Given the description of an element on the screen output the (x, y) to click on. 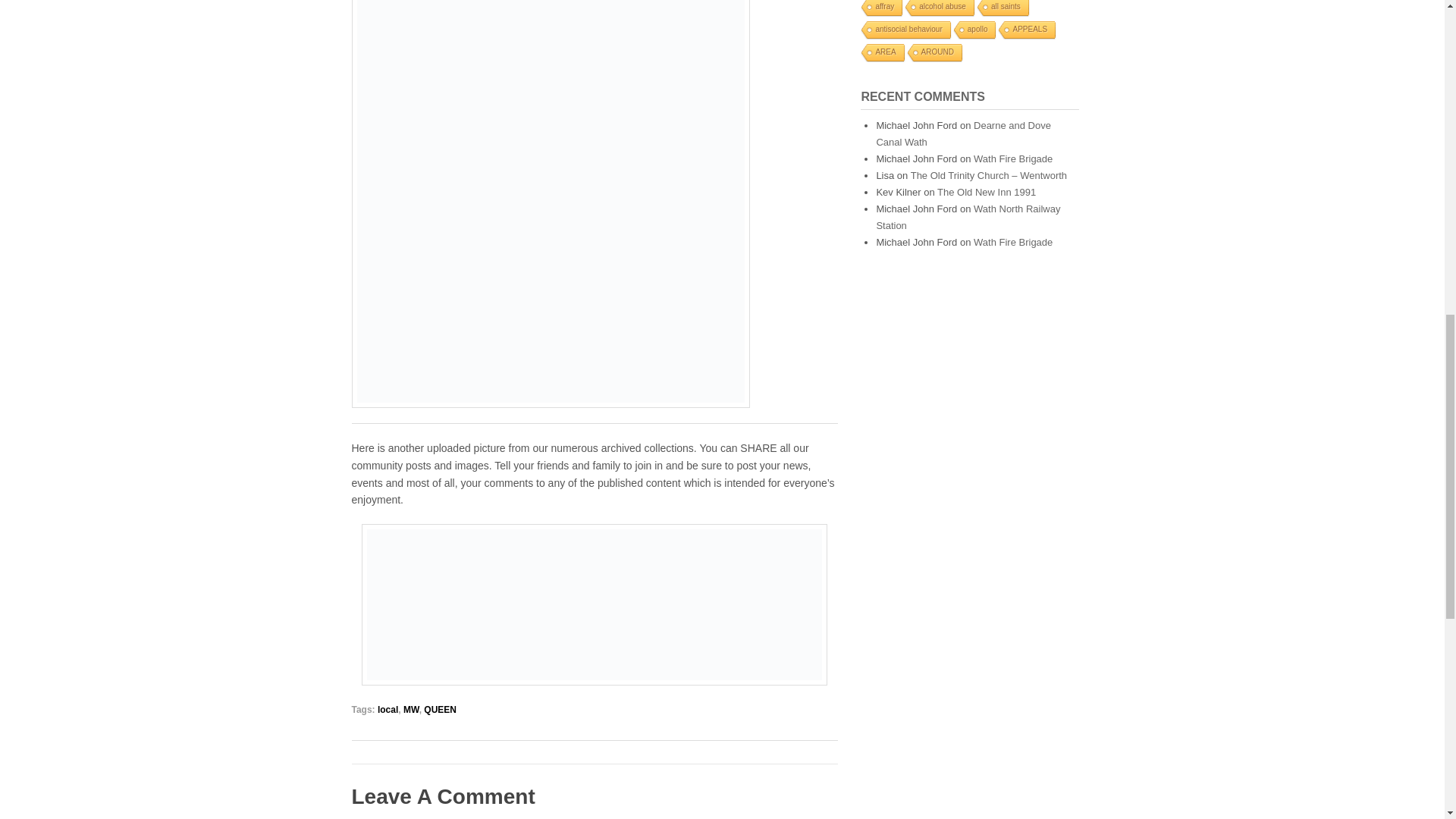
MW (411, 709)
QUEEN (440, 709)
local (387, 709)
